Given the description of an element on the screen output the (x, y) to click on. 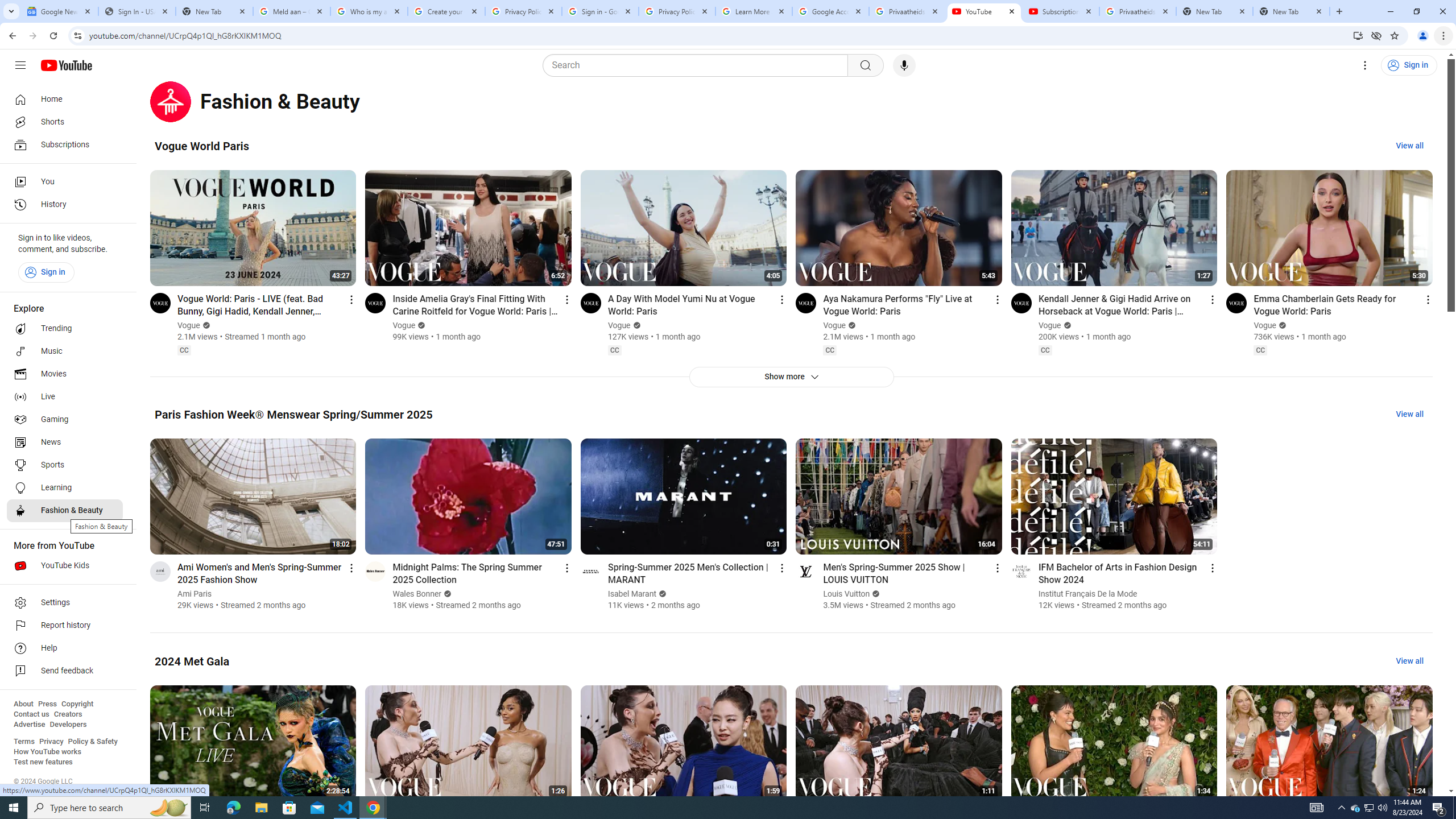
Subscriptions (64, 144)
Test new features (42, 761)
YouTube (983, 11)
Press (46, 703)
Wales Bonner (417, 594)
Isabel Marant (632, 594)
Search with your voice (903, 65)
Verified (874, 593)
